Given the description of an element on the screen output the (x, y) to click on. 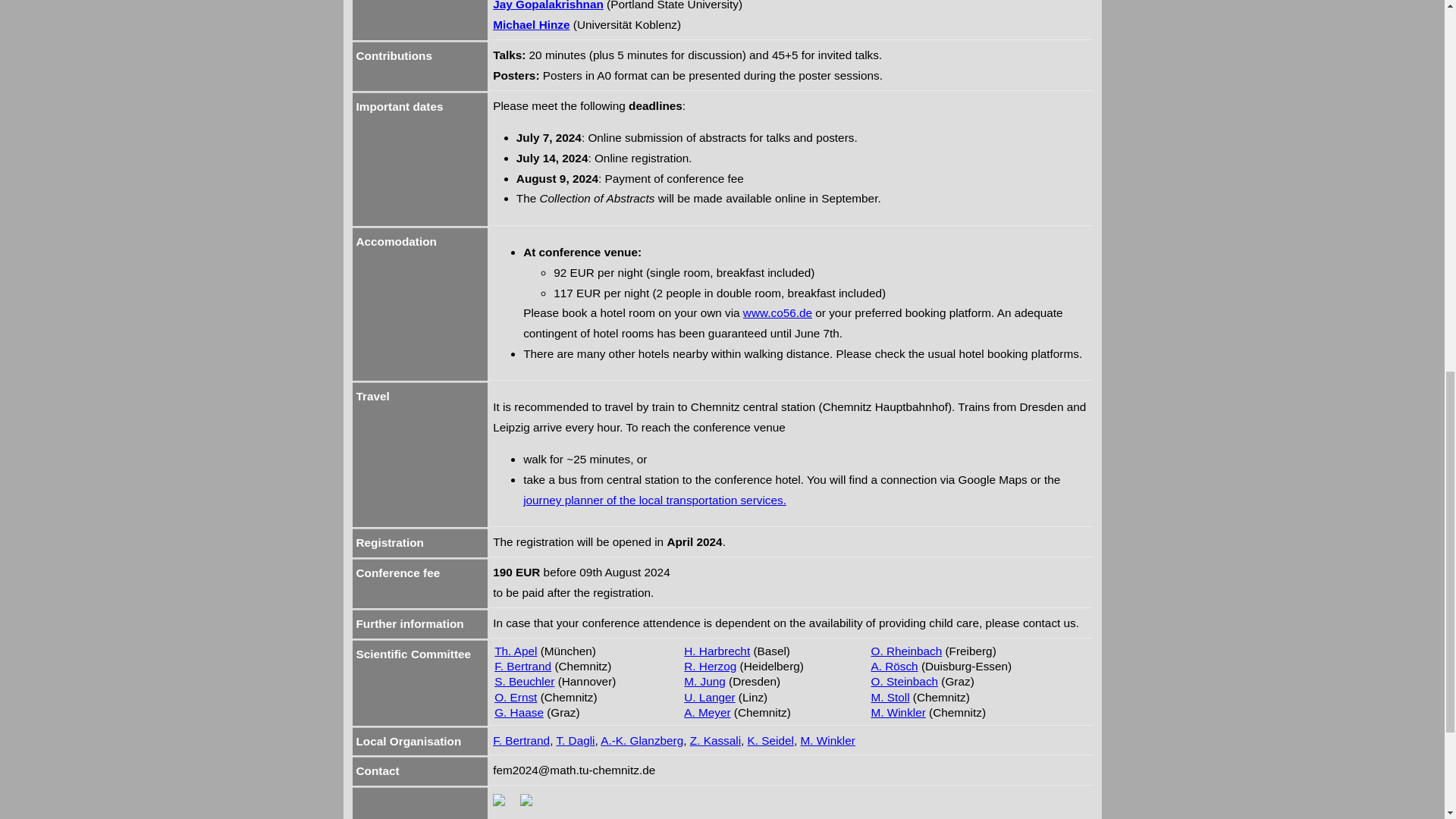
United States (674, 5)
H. Harbrecht (716, 650)
Z. Kassali (715, 739)
A.-K. Glanzberg (640, 739)
M. Stoll (889, 697)
S. Beuchler (524, 680)
R. Herzog (710, 666)
U. Langer (709, 697)
Jay Gopalakrishnan (548, 5)
O. Rheinbach (906, 650)
